Given the description of an element on the screen output the (x, y) to click on. 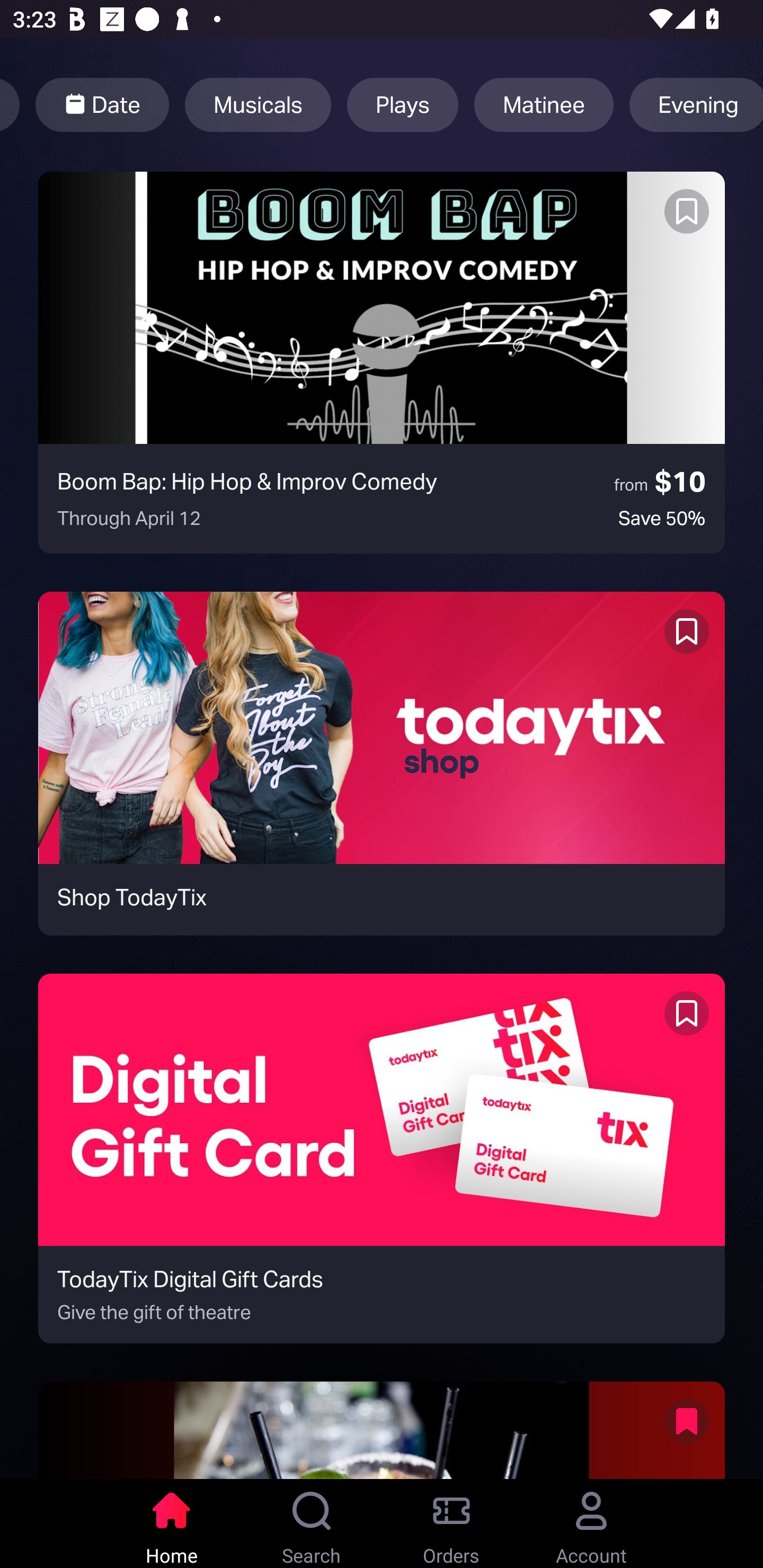
Date (102, 104)
Musicals (257, 104)
Plays (402, 104)
Matinee (543, 104)
Shop TodayTix (381, 763)
Search (311, 1523)
Orders (451, 1523)
Account (591, 1523)
